Given the description of an element on the screen output the (x, y) to click on. 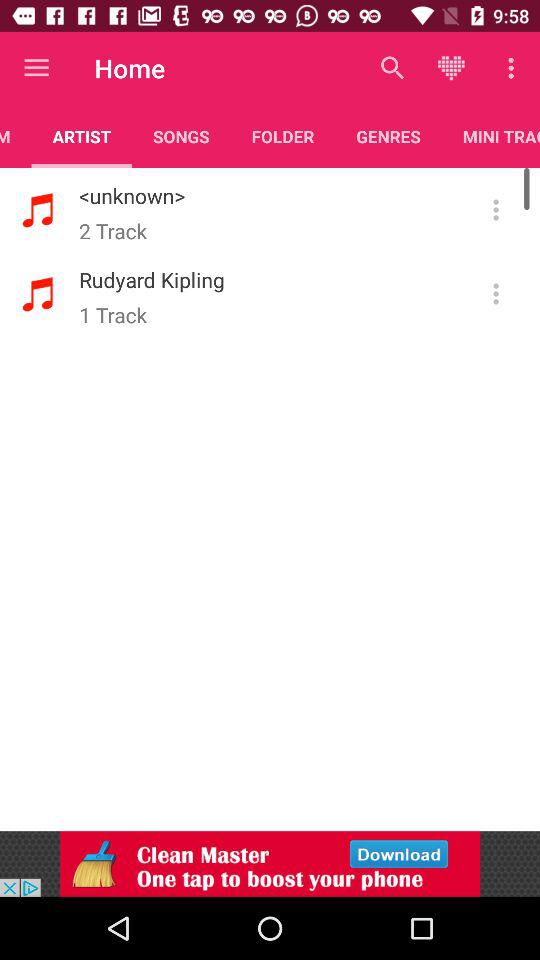
menu (495, 293)
